Given the description of an element on the screen output the (x, y) to click on. 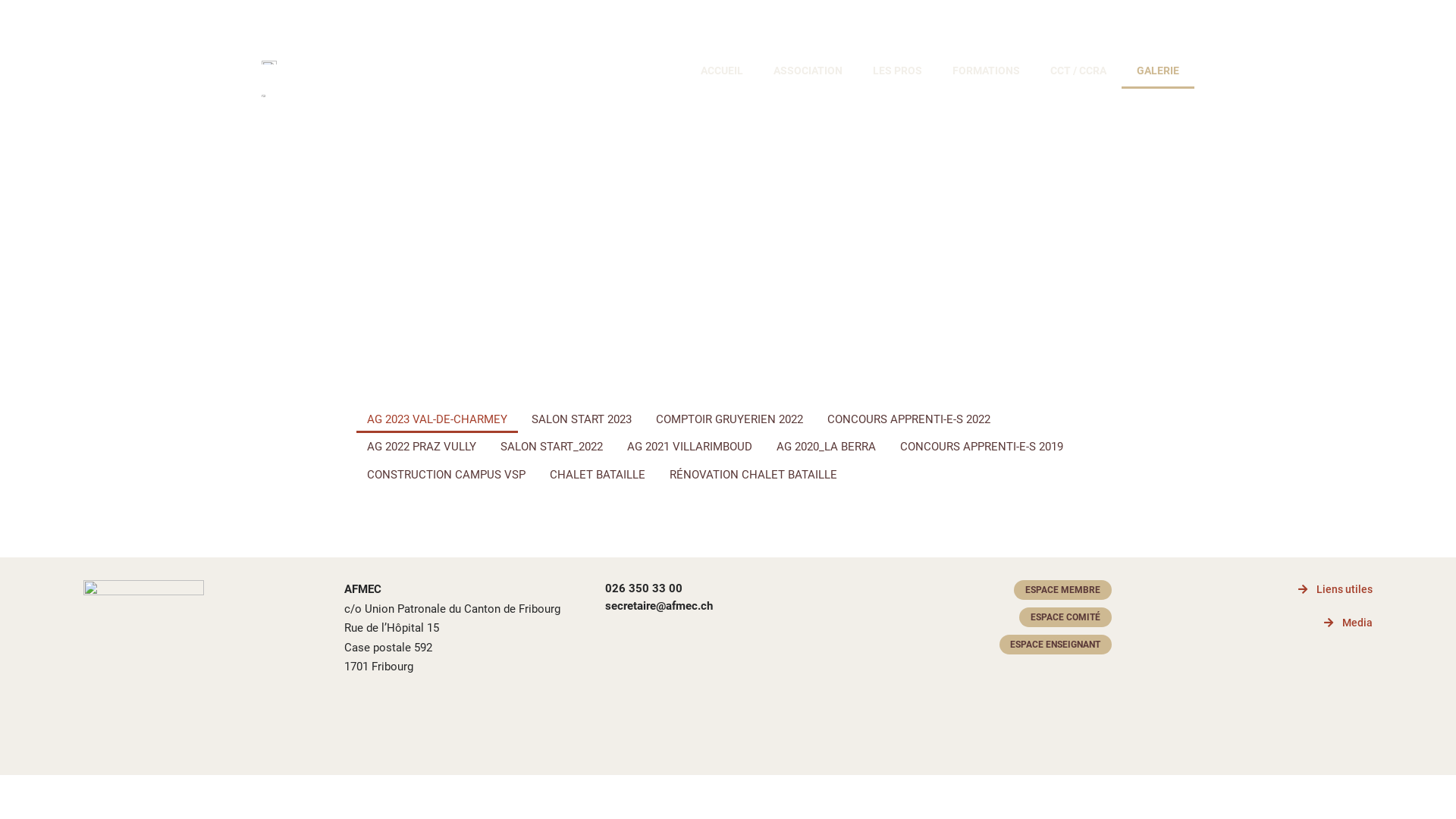
GALERIE Element type: text (1157, 70)
Liens utiles Element type: text (1335, 588)
ESPACE MEMBRE Element type: text (1062, 589)
ESPACE ENSEIGNANT Element type: text (1055, 644)
SALON START 2023 Element type: text (581, 419)
AG 2020_LA BERRA Element type: text (825, 447)
ASSOCIATION Element type: text (807, 70)
AG 2022 PRAZ VULLY Element type: text (421, 447)
SALON START_2022 Element type: text (551, 447)
CONCOURS APPRENTI-E-S 2022 Element type: text (908, 419)
AG 2023 VAL-DE-CHARMEY Element type: text (436, 419)
ACCUEIL Element type: text (721, 70)
COMPTOIR GRUYERIEN 2022 Element type: text (729, 419)
CHALET BATAILLE Element type: text (597, 475)
CCT / CCRA Element type: text (1078, 70)
FORMATIONS Element type: text (986, 70)
CONCOURS APPRENTI-E-S 2019 Element type: text (981, 447)
Media Element type: text (1348, 622)
CONSTRUCTION CAMPUS VSP Element type: text (446, 475)
AG 2021 VILLARIMBOUD Element type: text (689, 447)
LES PROS Element type: text (897, 70)
